Given the description of an element on the screen output the (x, y) to click on. 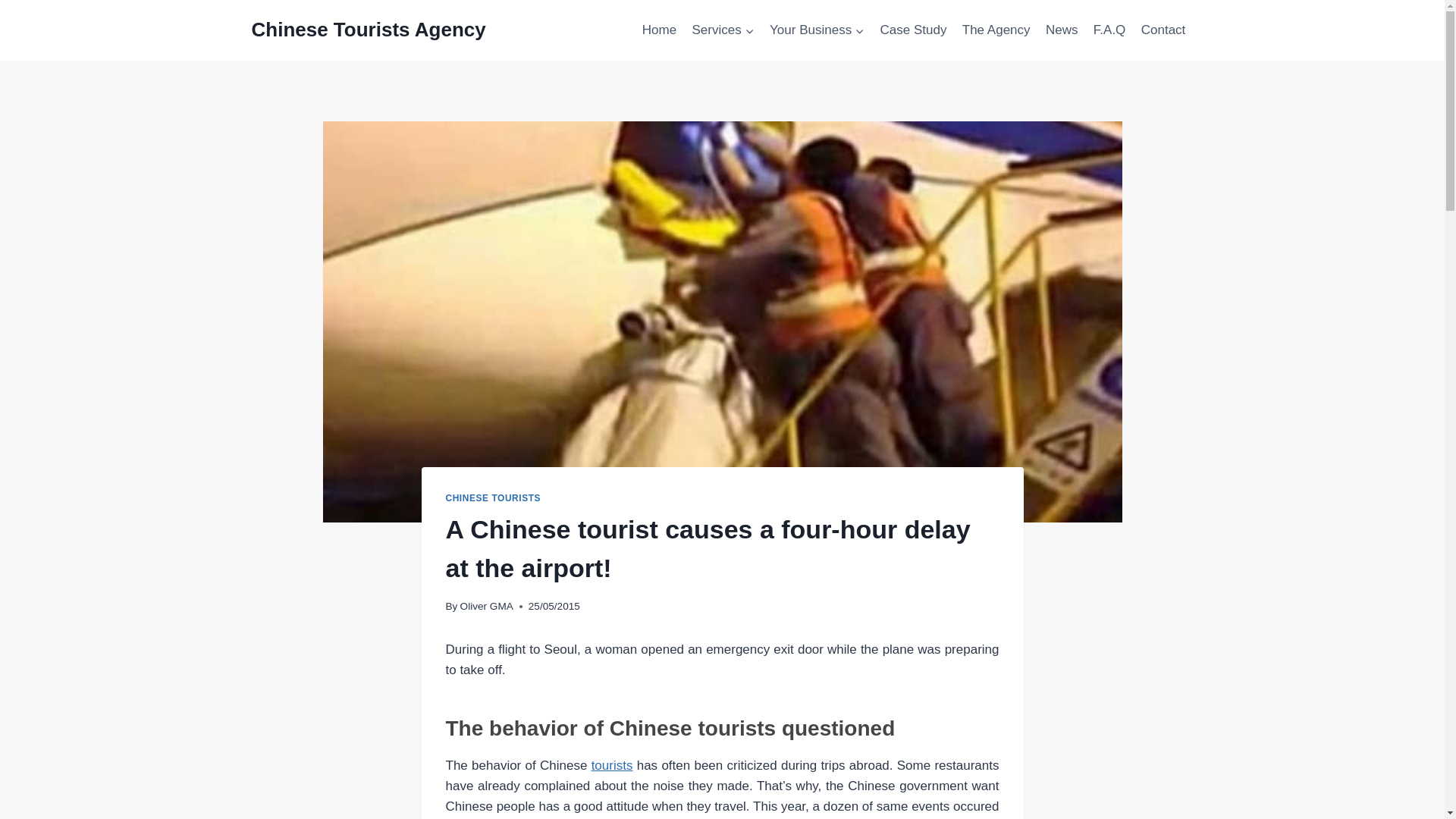
tourists (612, 765)
Expertise in Tourism In China (996, 30)
F.A.Q (1110, 30)
Contact (1163, 30)
News (1062, 30)
Services (722, 30)
Tourism Agency Marketing (659, 30)
Chinese tourist (1062, 30)
Home (659, 30)
Case Study (912, 30)
CHINESE TOURISTS (493, 498)
The Agency (996, 30)
Chinese Tourists Agency (368, 29)
Your Business (816, 30)
Contact (1163, 30)
